Given the description of an element on the screen output the (x, y) to click on. 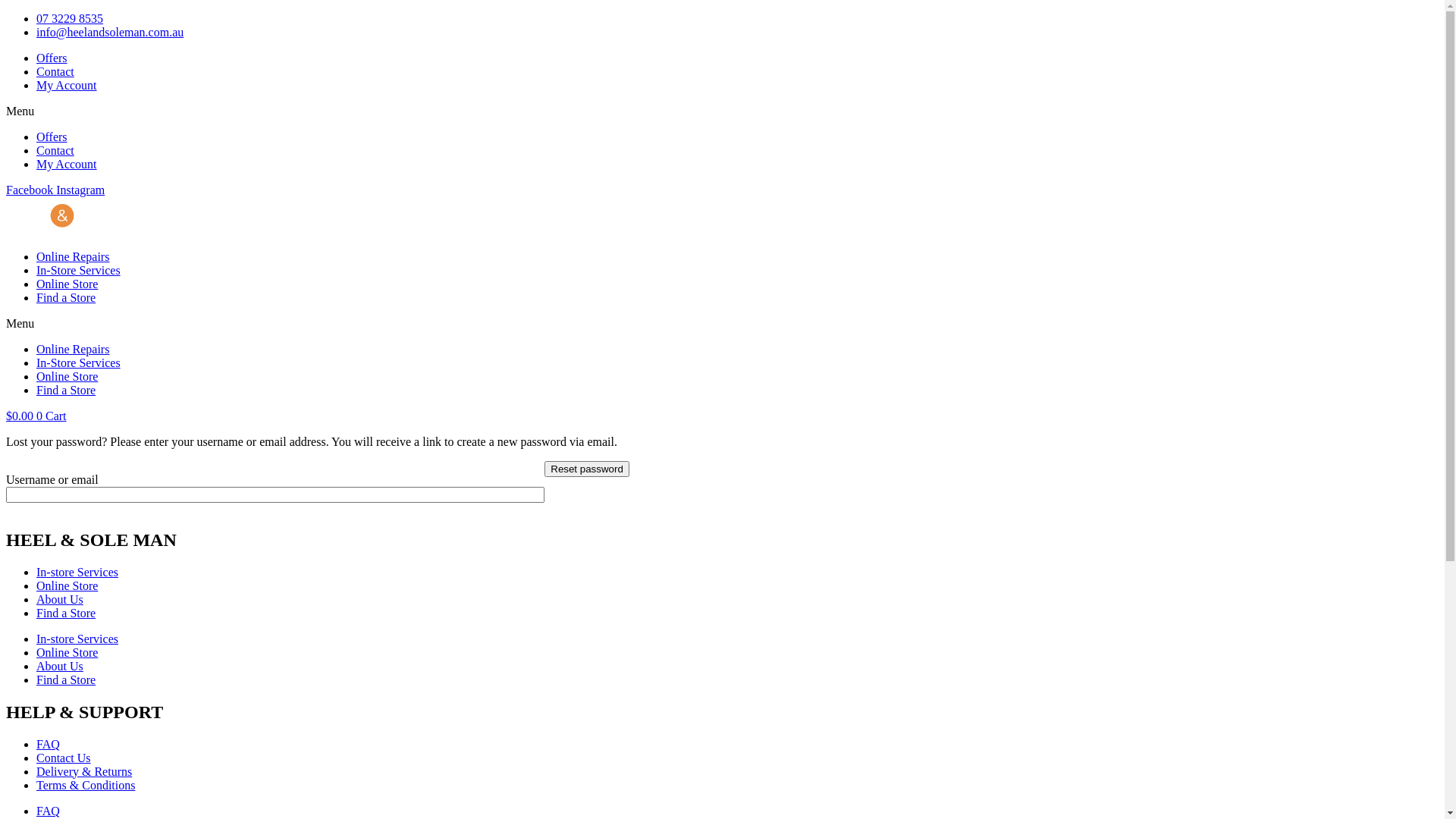
Online Store Element type: text (66, 652)
Online Store Element type: text (66, 376)
Facebook Element type: text (31, 189)
Contact Element type: text (55, 150)
info@heelandsoleman.com.au Element type: text (109, 31)
Online Store Element type: text (66, 585)
Online Repairs Element type: text (72, 348)
In-Store Services Element type: text (78, 362)
Contact Element type: text (55, 71)
In-store Services Element type: text (77, 571)
Reset password Element type: text (586, 468)
Offers Element type: text (51, 136)
About Us Element type: text (59, 599)
Instagram Element type: text (80, 189)
Terms & Conditions Element type: text (85, 784)
heelandsolemanlogo Element type: hover (81, 216)
About Us Element type: text (59, 665)
Online Repairs Element type: text (72, 256)
My Account Element type: text (66, 163)
07 3229 8535 Element type: text (69, 18)
In-Store Services Element type: text (78, 269)
Contact Us Element type: text (63, 757)
FAQ Element type: text (47, 743)
Delivery & Returns Element type: text (83, 771)
Skip to content Element type: text (5, 11)
Find a Store Element type: text (65, 612)
FAQ Element type: text (47, 810)
Find a Store Element type: text (65, 679)
Online Store Element type: text (66, 283)
My Account Element type: text (66, 84)
Find a Store Element type: text (65, 389)
Find a Store Element type: text (65, 297)
Offers Element type: text (51, 57)
In-store Services Element type: text (77, 638)
$0.00 0 Cart Element type: text (36, 415)
